Given the description of an element on the screen output the (x, y) to click on. 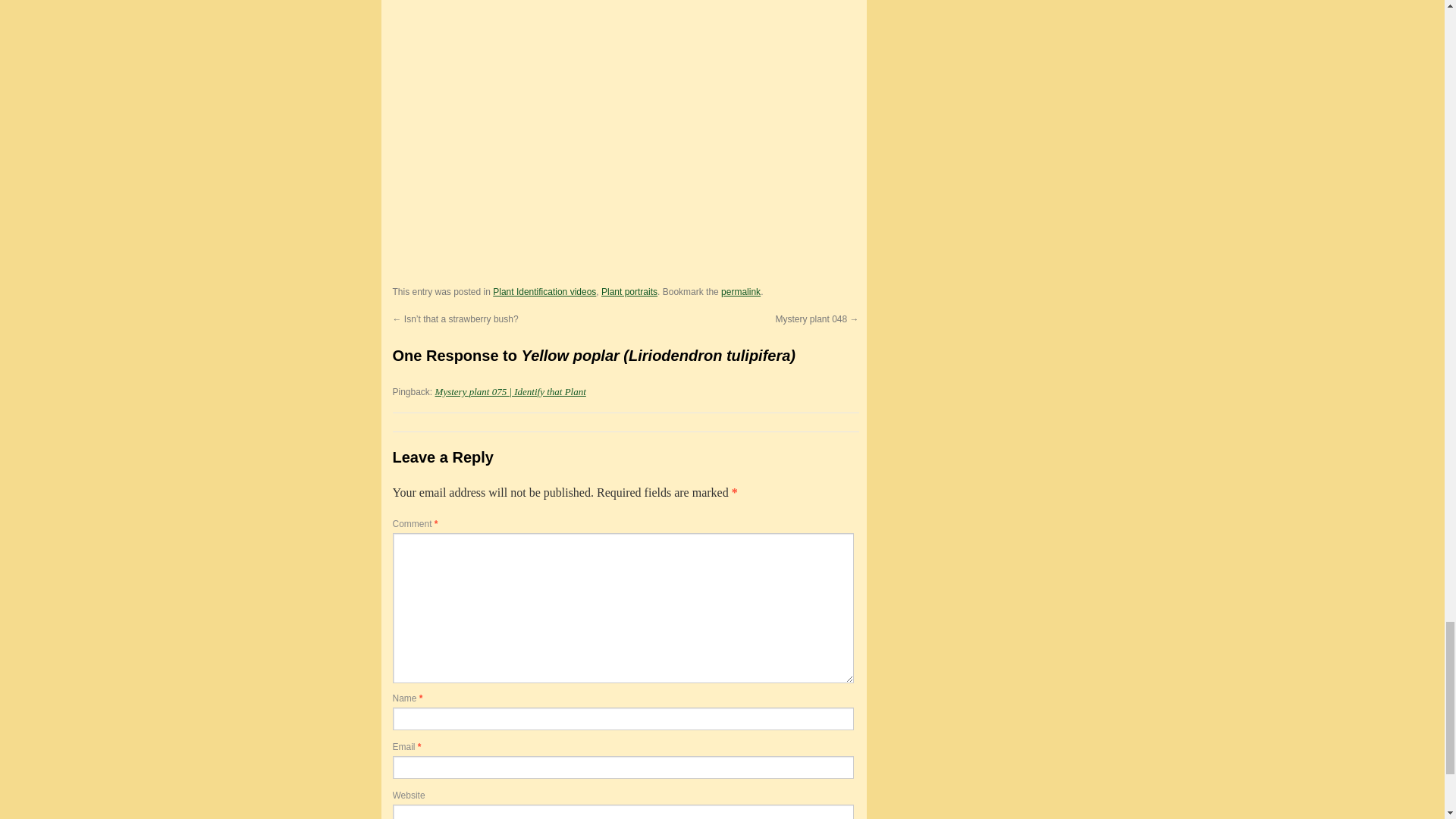
Plant portraits (629, 291)
Plant Identification videos (544, 291)
permalink (740, 291)
